Given the description of an element on the screen output the (x, y) to click on. 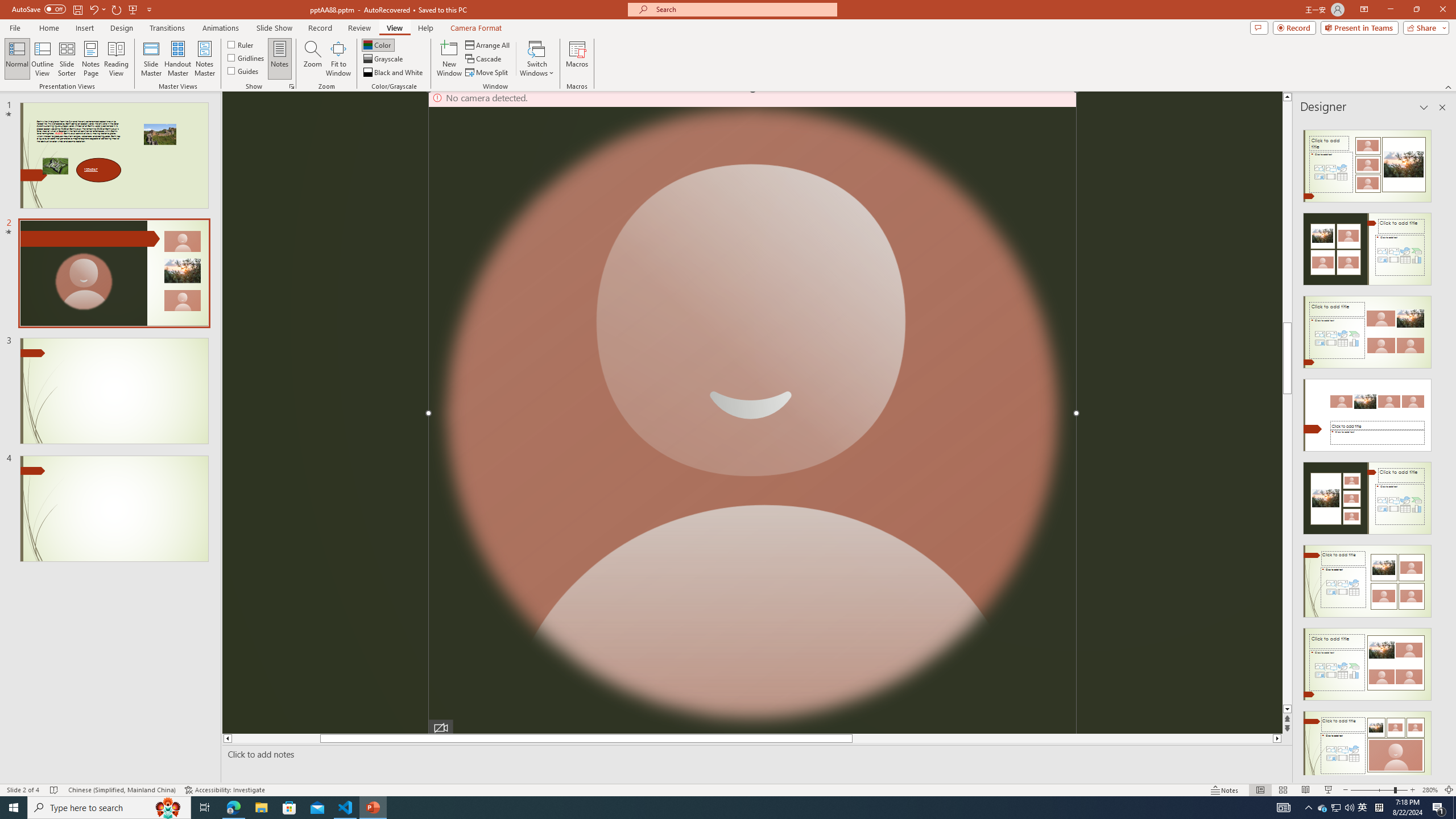
Black and White (393, 72)
Notes Master (204, 58)
Slide Master (151, 58)
Page up (1287, 232)
Class: NetUIImage (1367, 746)
Slide Notes (754, 754)
Accessibility Checker Accessibility: Investigate (224, 790)
Collapse the Ribbon (1448, 86)
Customize Quick Access Toolbar (149, 9)
